Given the description of an element on the screen output the (x, y) to click on. 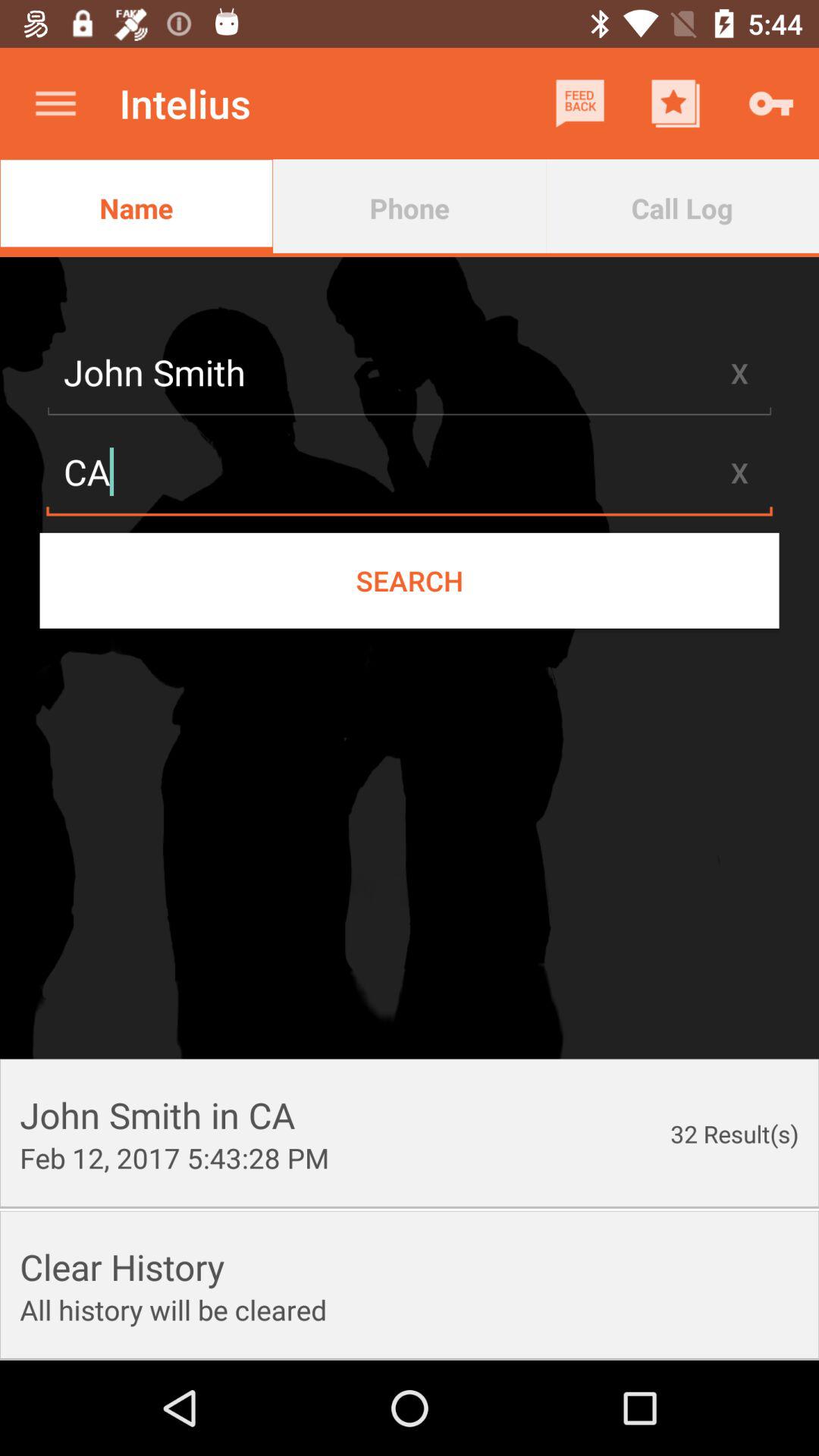
scroll until the all history will icon (173, 1309)
